Given the description of an element on the screen output the (x, y) to click on. 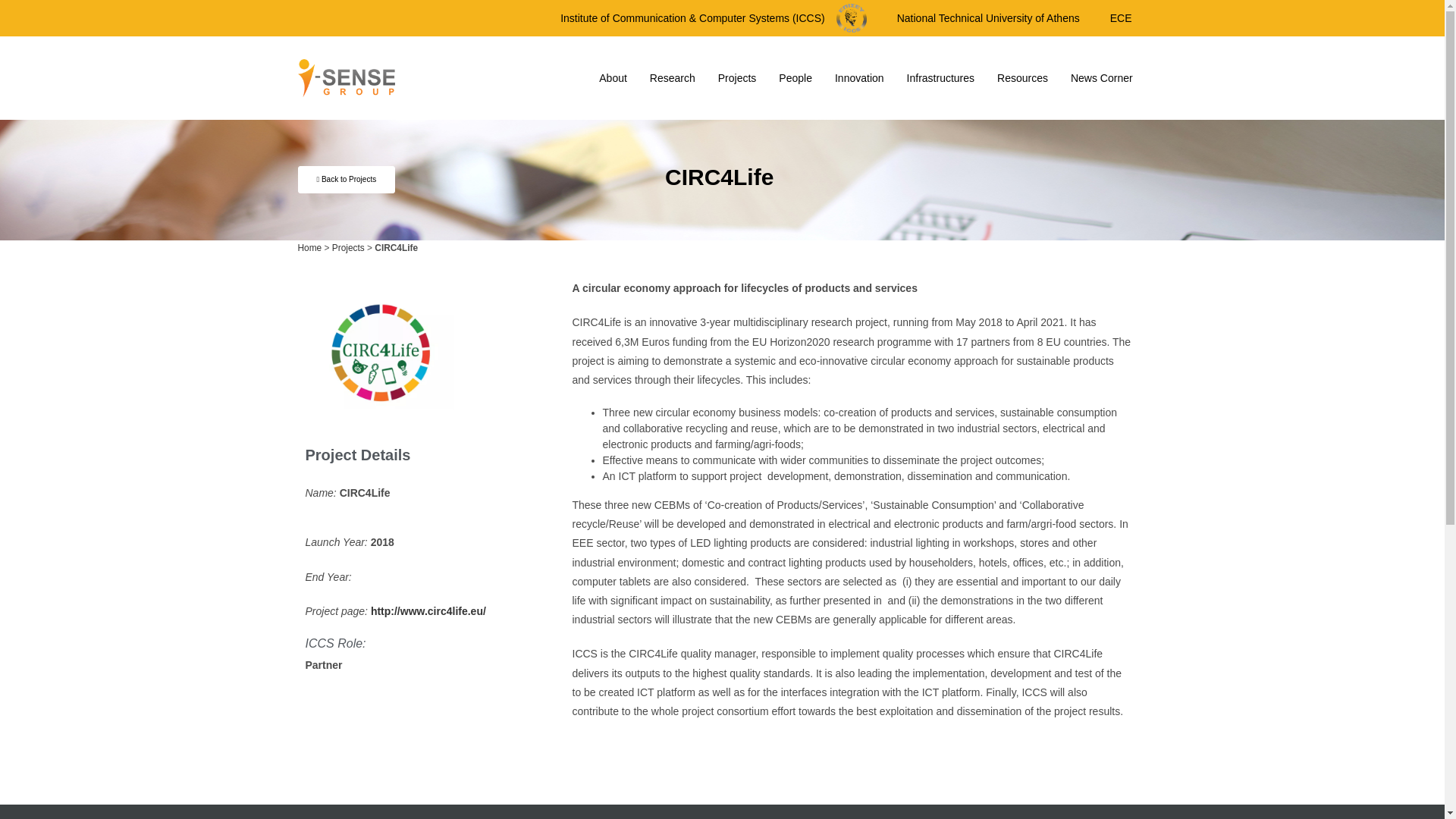
About (613, 77)
People (795, 77)
Projects (737, 77)
Resources (1022, 77)
Research (672, 77)
Innovation (859, 77)
News Corner (1101, 77)
National Technical University of Athens (988, 18)
Infrastructures (940, 77)
ECE (1120, 18)
